Given the description of an element on the screen output the (x, y) to click on. 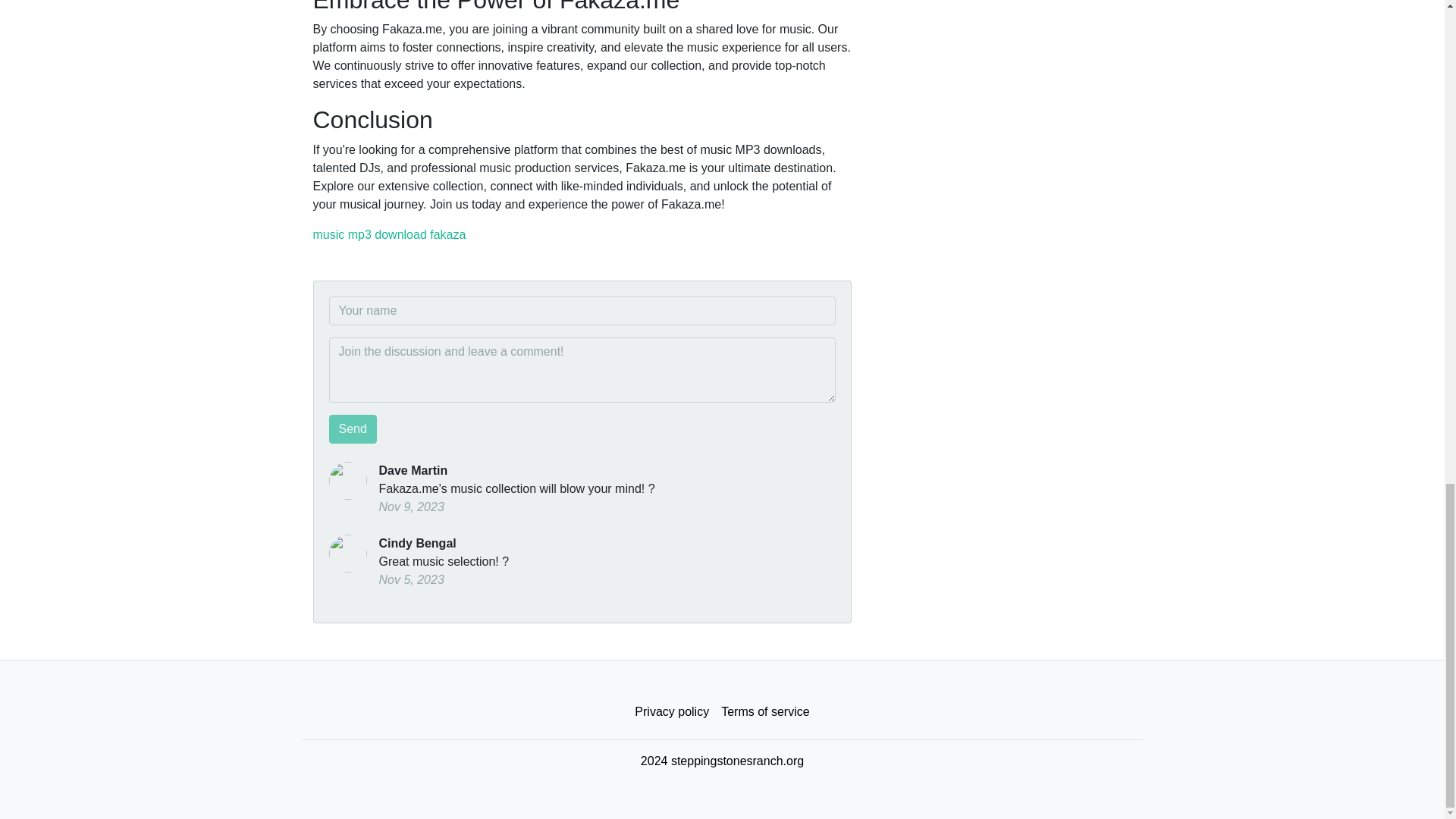
Send (353, 428)
Privacy policy (671, 711)
Send (353, 428)
Terms of service (764, 711)
music mp3 download fakaza (389, 234)
